Given the description of an element on the screen output the (x, y) to click on. 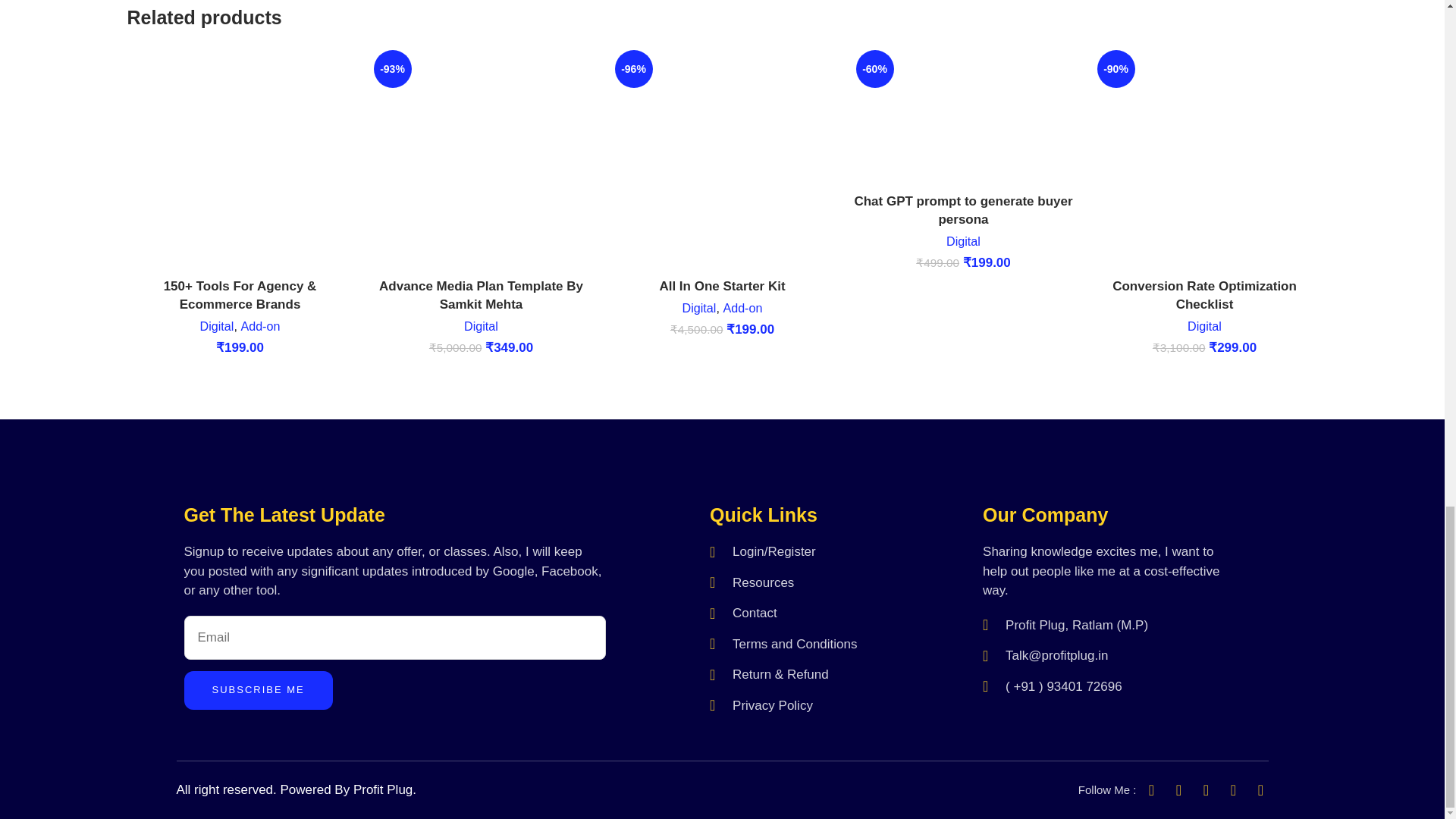
Digital (217, 325)
Chat GPT prompt to generate buyer persona (962, 210)
Add-on (259, 325)
Advance Media Plan Template By Samkit Mehta (480, 295)
All In One Starter Kit (721, 286)
Digital (480, 325)
Digital (699, 307)
Add-on (741, 307)
